Given the description of an element on the screen output the (x, y) to click on. 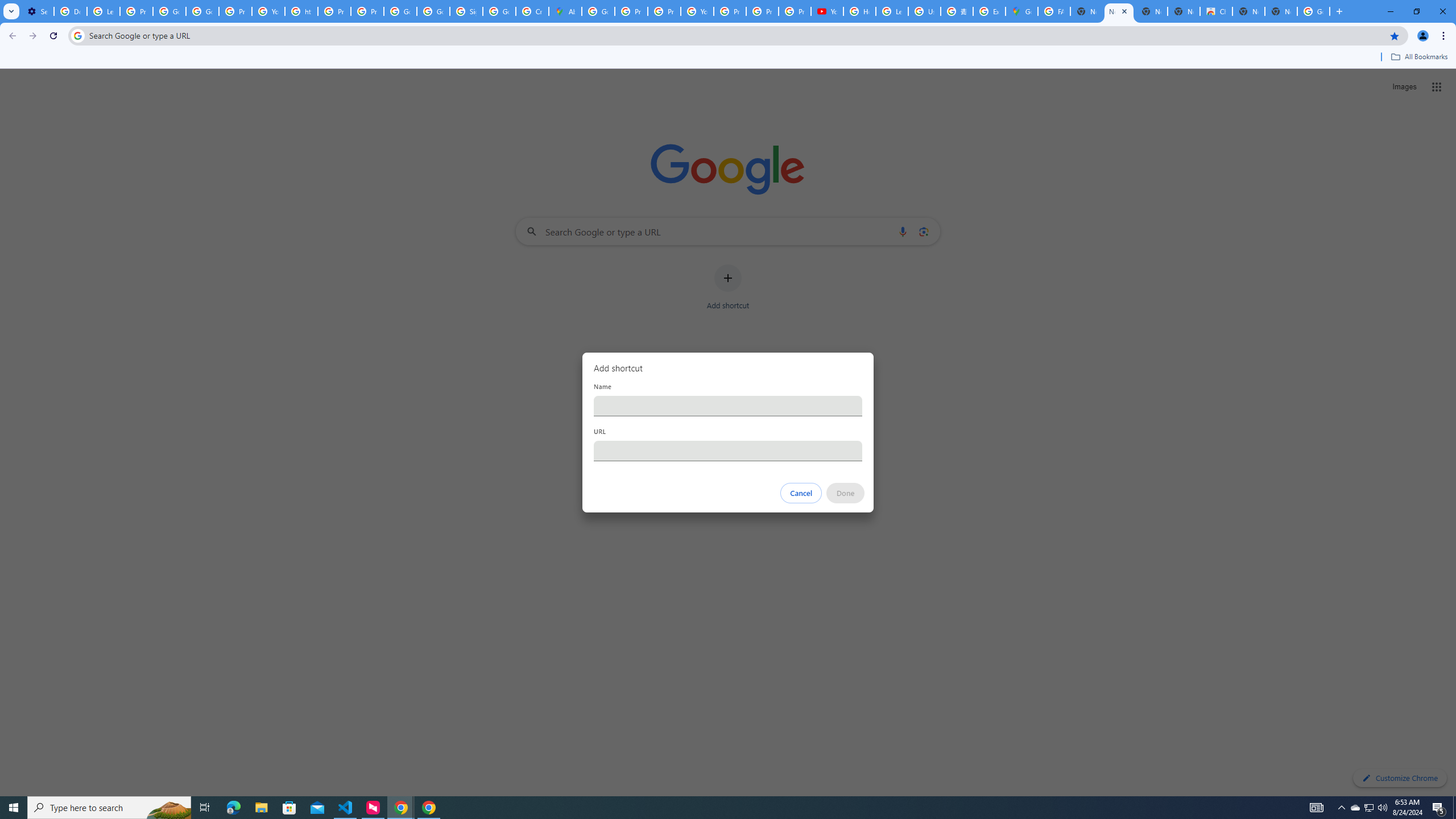
URL (727, 450)
How Chrome protects your passwords - Google Chrome Help (859, 11)
Privacy Checkup (762, 11)
Privacy Checkup (794, 11)
Search icon (77, 35)
Settings - On startup (37, 11)
https://scholar.google.com/ (301, 11)
New Tab (1281, 11)
Privacy Help Center - Policies Help (334, 11)
Google Maps (1021, 11)
